Given the description of an element on the screen output the (x, y) to click on. 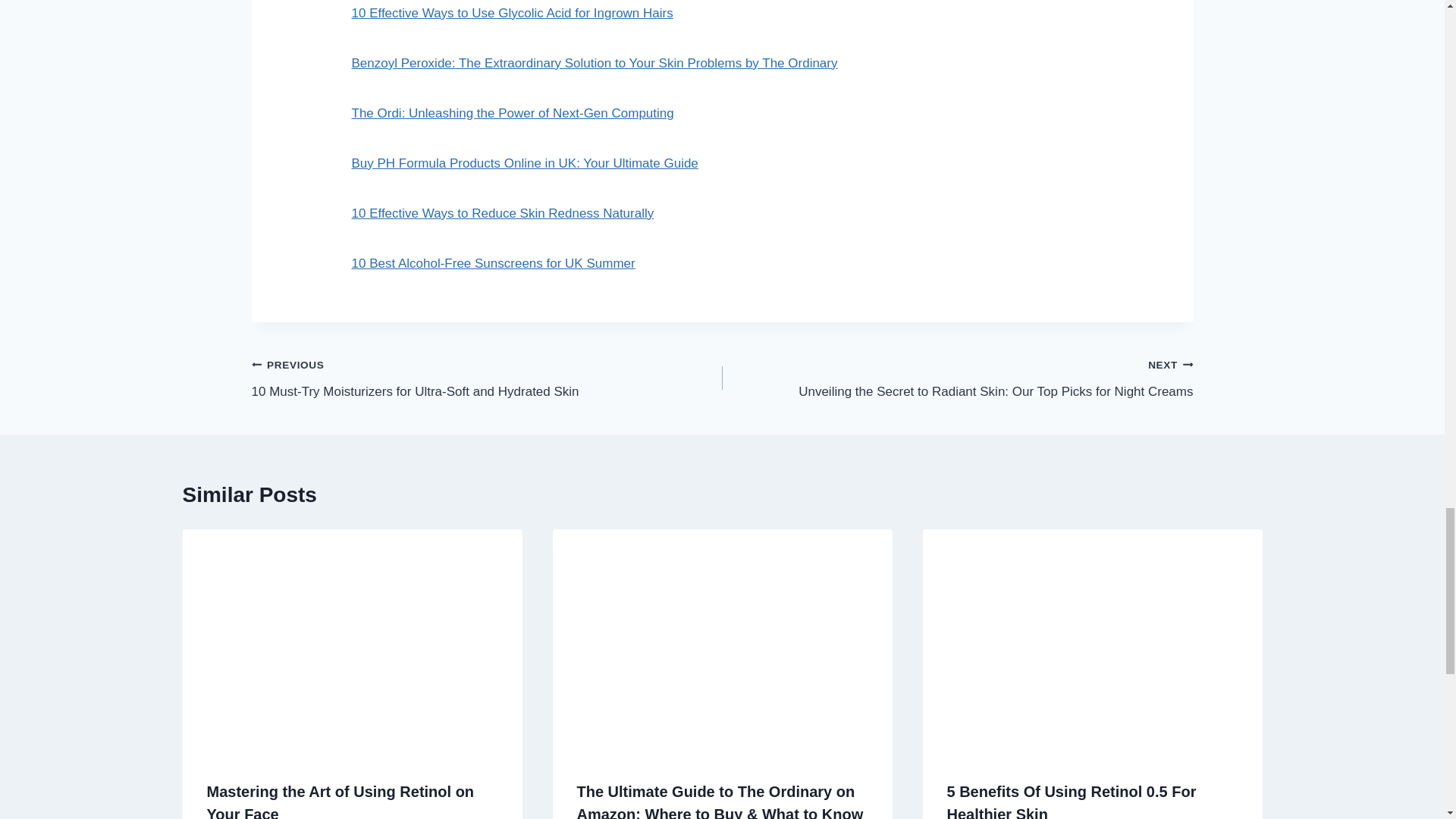
10 Effective Ways to Reduce Skin Redness Naturally (502, 213)
10 Best Alcohol-Free Sunscreens for UK Summer (493, 263)
10 Effective Ways to Use Glycolic Acid for Ingrown Hairs (512, 12)
The Ordi: Unleashing the Power of Next-Gen Computing (513, 113)
Buy PH Formula Products Online in UK: Your Ultimate Guide (525, 163)
